Given the description of an element on the screen output the (x, y) to click on. 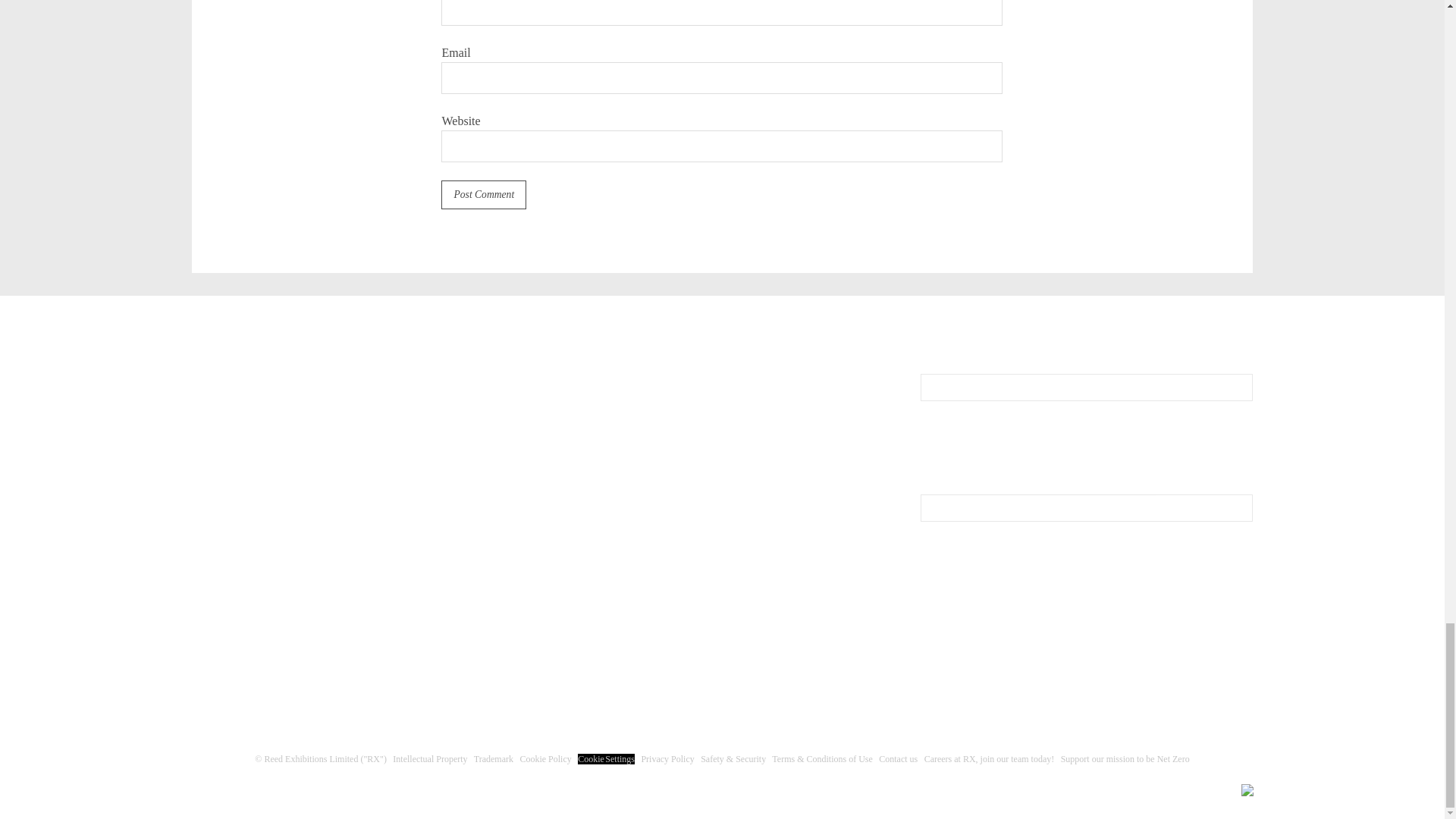
Post Comment (483, 194)
